Given the description of an element on the screen output the (x, y) to click on. 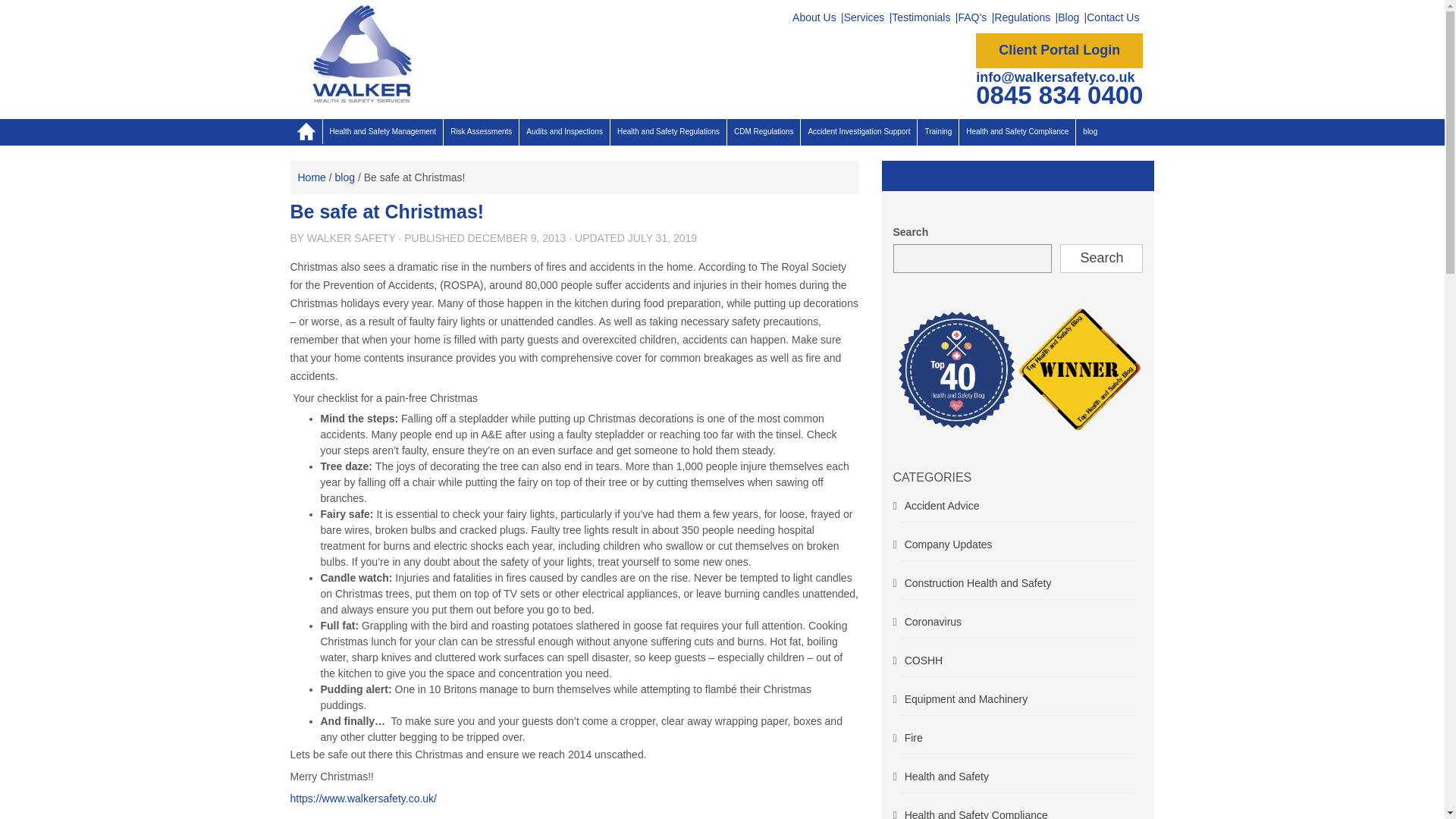
Accident Investigation Support (858, 131)
Company Updates (948, 544)
About Us (814, 17)
Health and Safety Regulations (668, 131)
0845 834 0400 (1058, 94)
Services (864, 17)
Accident Advice (941, 505)
Regulations (1022, 17)
Risk Assessments (481, 131)
Training (937, 131)
CDM Regulations (762, 131)
Health and Safety Compliance (1017, 131)
Blog (1068, 17)
Home (310, 177)
Health and Safety Management (383, 131)
